Given the description of an element on the screen output the (x, y) to click on. 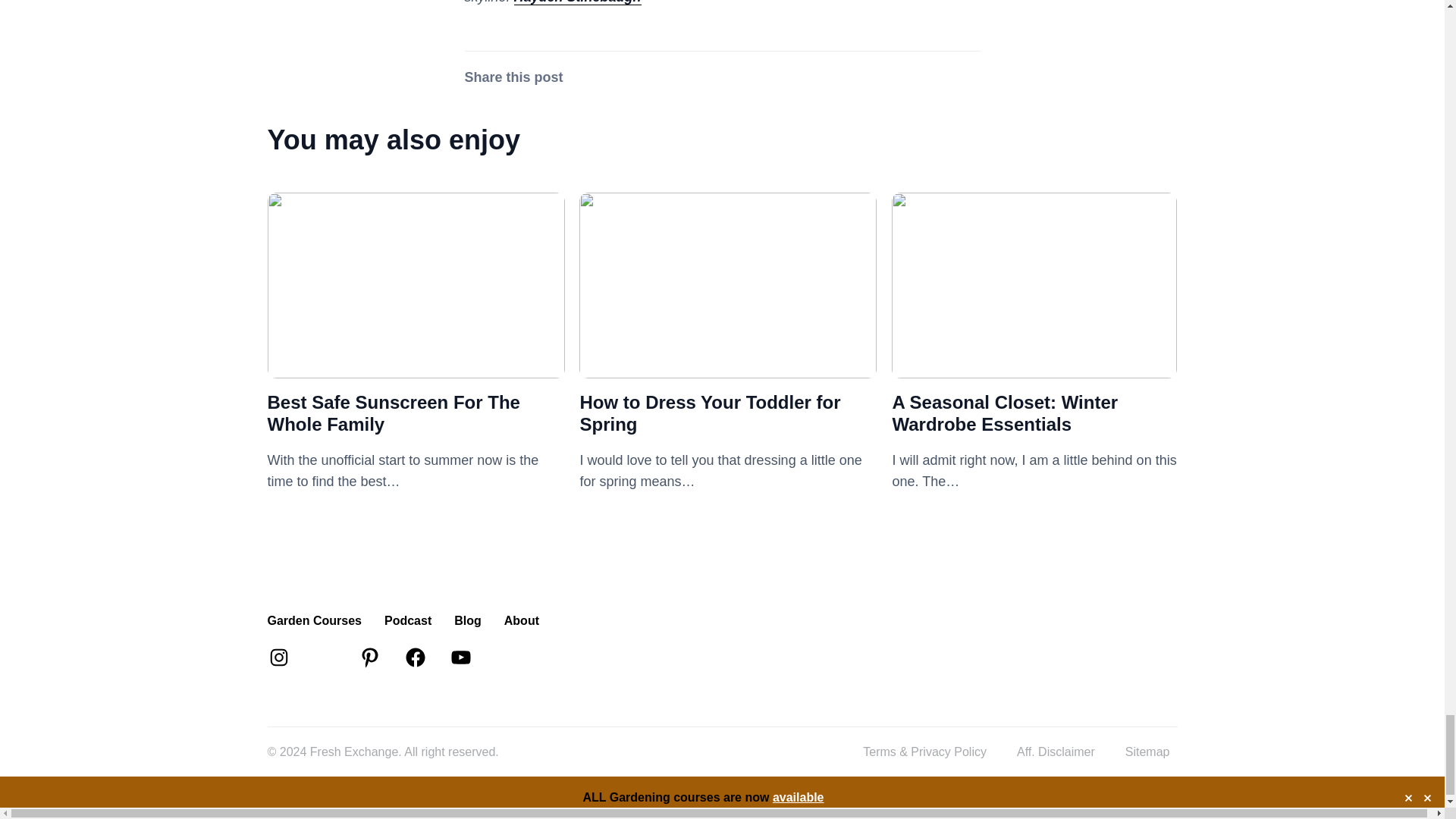
Best Safe Sunscreen For The Whole Family (415, 366)
How to Dress Your Toddler for Spring (709, 413)
A Seasonal Closet: Winter Wardrobe Essentials (1004, 413)
Best Safe Sunscreen For The Whole Family (392, 413)
A Seasonal Closet: Winter Wardrobe Essentials (1033, 366)
Hayden Stinebaugh (577, 2)
How to Dress Your Toddler for Spring (727, 366)
